Given the description of an element on the screen output the (x, y) to click on. 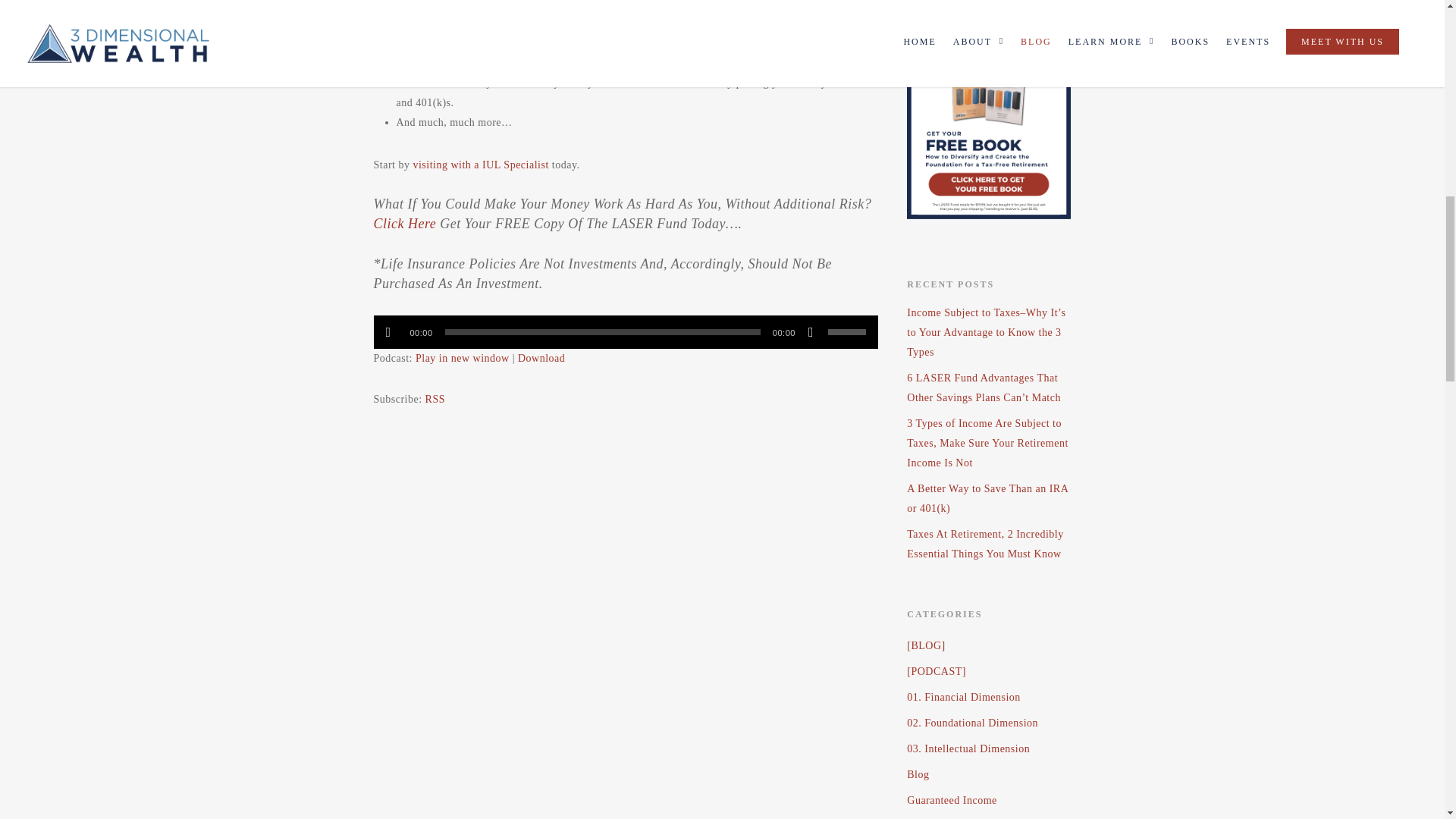
Click Here (403, 223)
Play in new window (461, 357)
RSS (435, 398)
Play in new window (461, 357)
Download (541, 357)
visiting with a IUL Specialist (480, 164)
Subscribe via RSS (435, 398)
Download (541, 357)
